Given the description of an element on the screen output the (x, y) to click on. 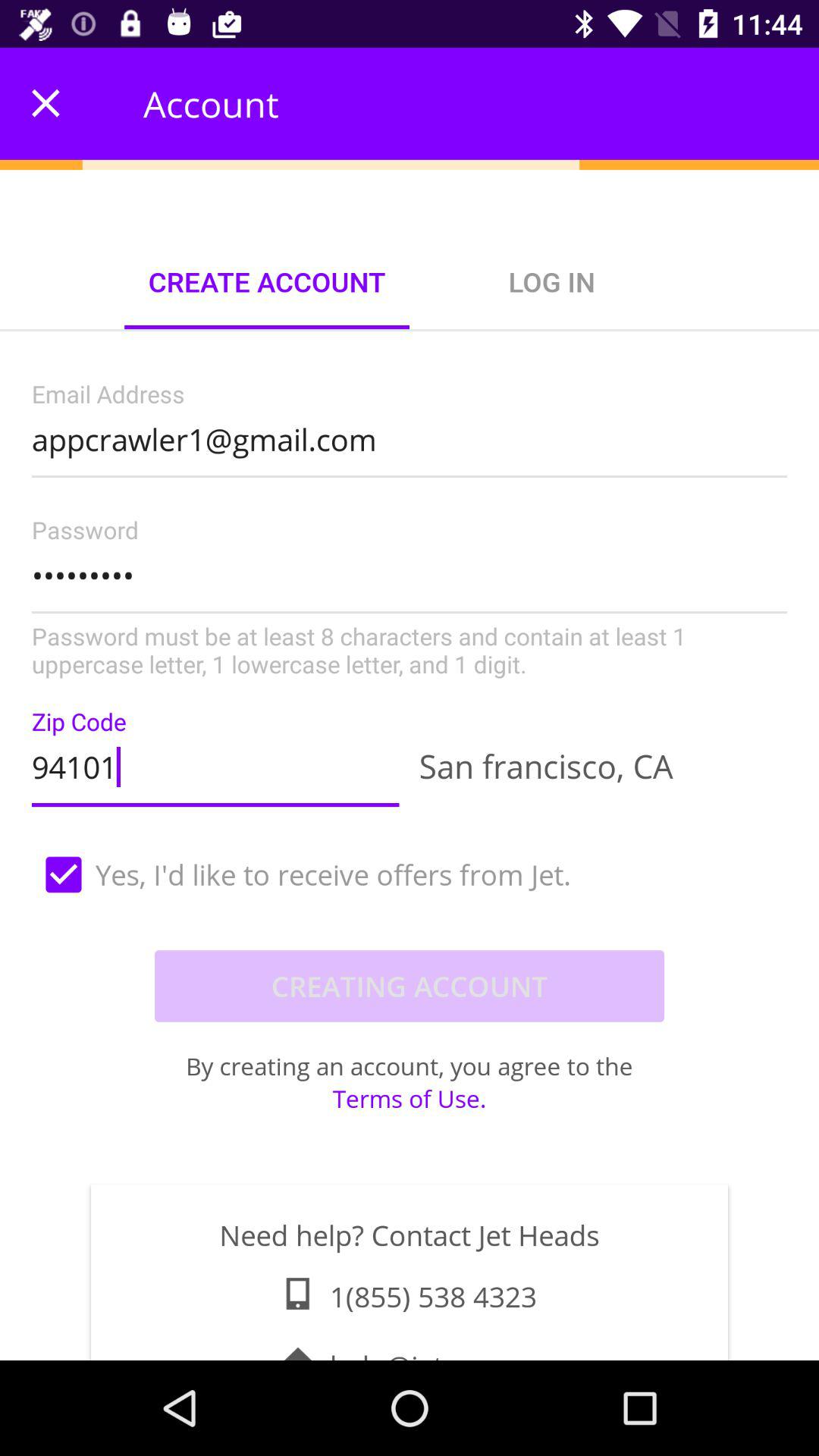
turn on icon below the 94101 (409, 874)
